Given the description of an element on the screen output the (x, y) to click on. 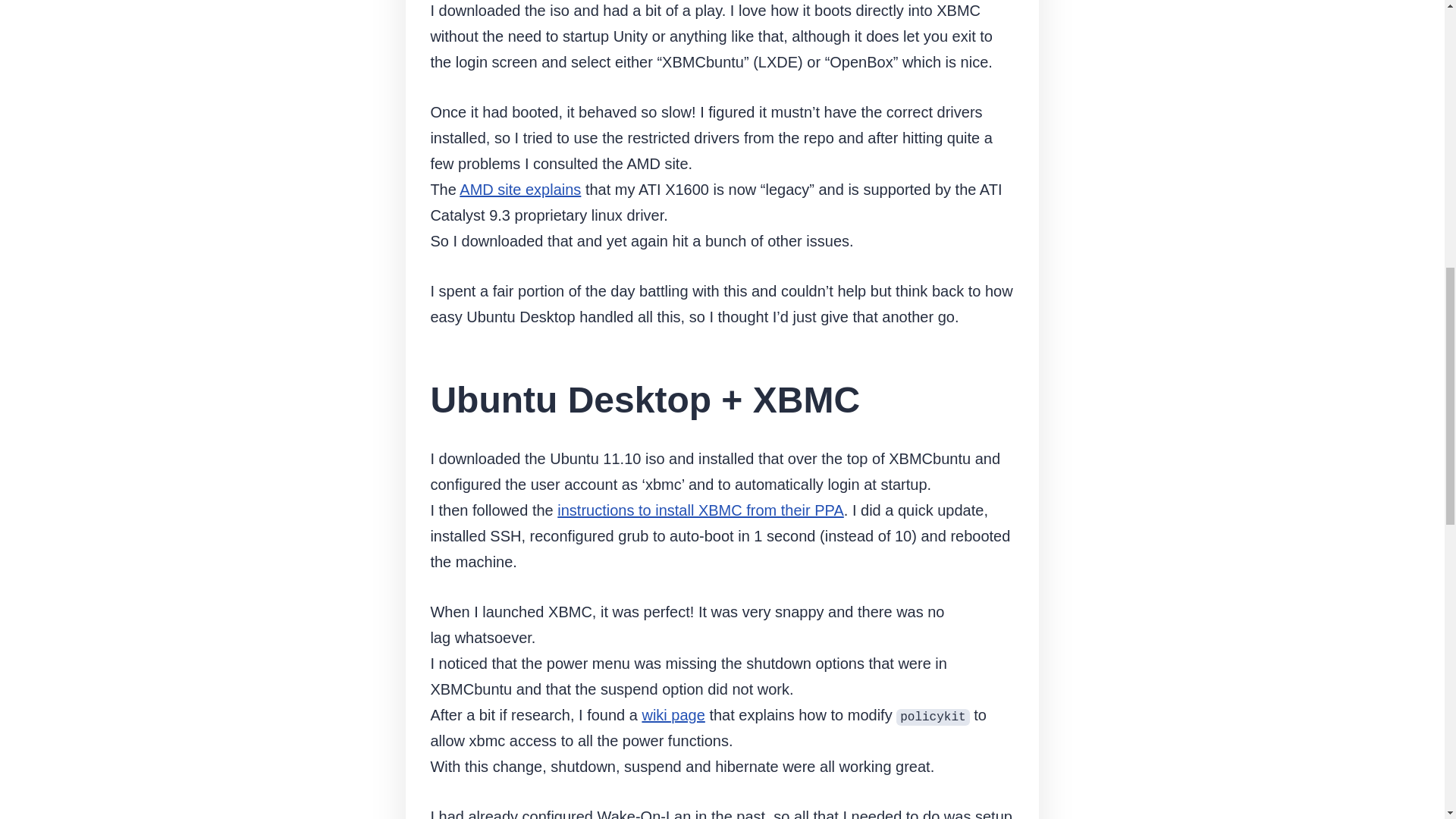
wiki page (673, 714)
instructions to install XBMC from their PPA (700, 510)
AMD site explains (520, 189)
